Given the description of an element on the screen output the (x, y) to click on. 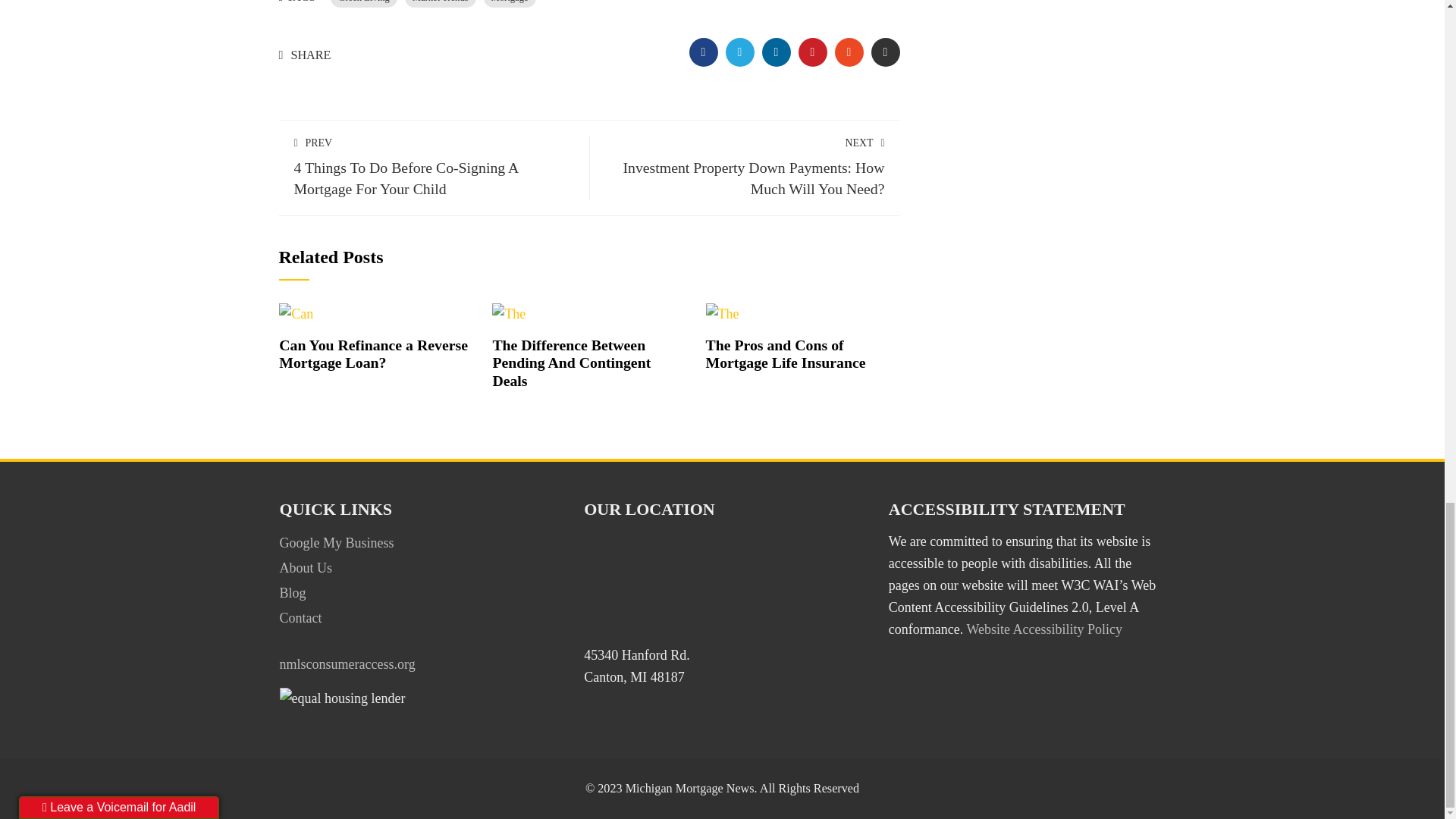
The Pros and Cons of Mortgage Life Insurance (722, 312)
Can You Refinance a Reverse Mortgage Loan? (373, 353)
The Difference Between Pending And Contingent Deals (508, 312)
The Pros and Cons of Mortgage Life Insurance (786, 353)
The Difference Between Pending And Contingent Deals (571, 362)
Can You Refinance a Reverse Mortgage Loan? (296, 312)
